Given the description of an element on the screen output the (x, y) to click on. 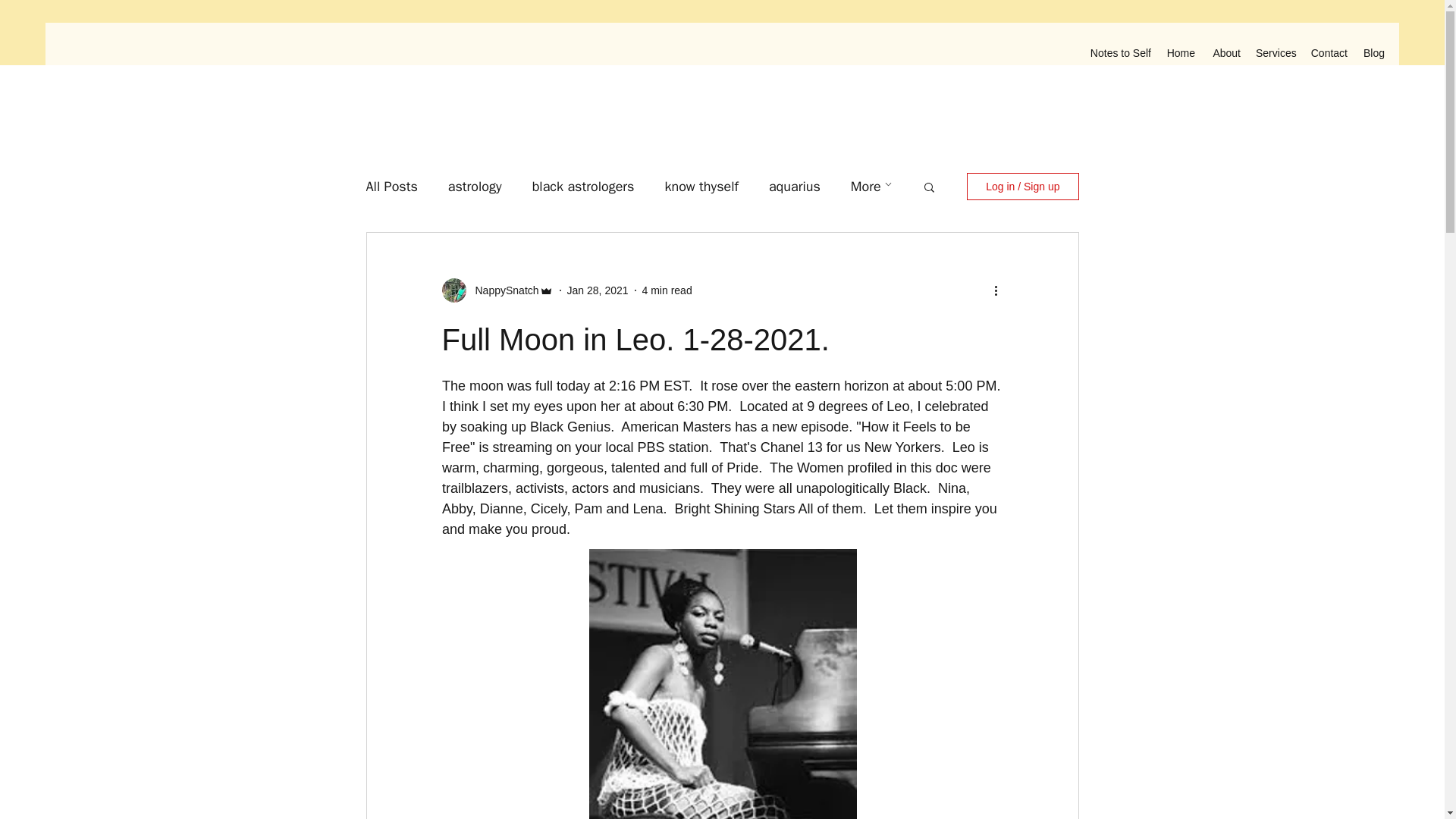
4 min read (667, 289)
Services (1274, 53)
Notes to Self (1119, 53)
About (1224, 53)
astrology (475, 186)
Contact (1328, 53)
black astrologers (583, 186)
Home (1180, 53)
aquarius (794, 186)
All Posts (390, 186)
